Given the description of an element on the screen output the (x, y) to click on. 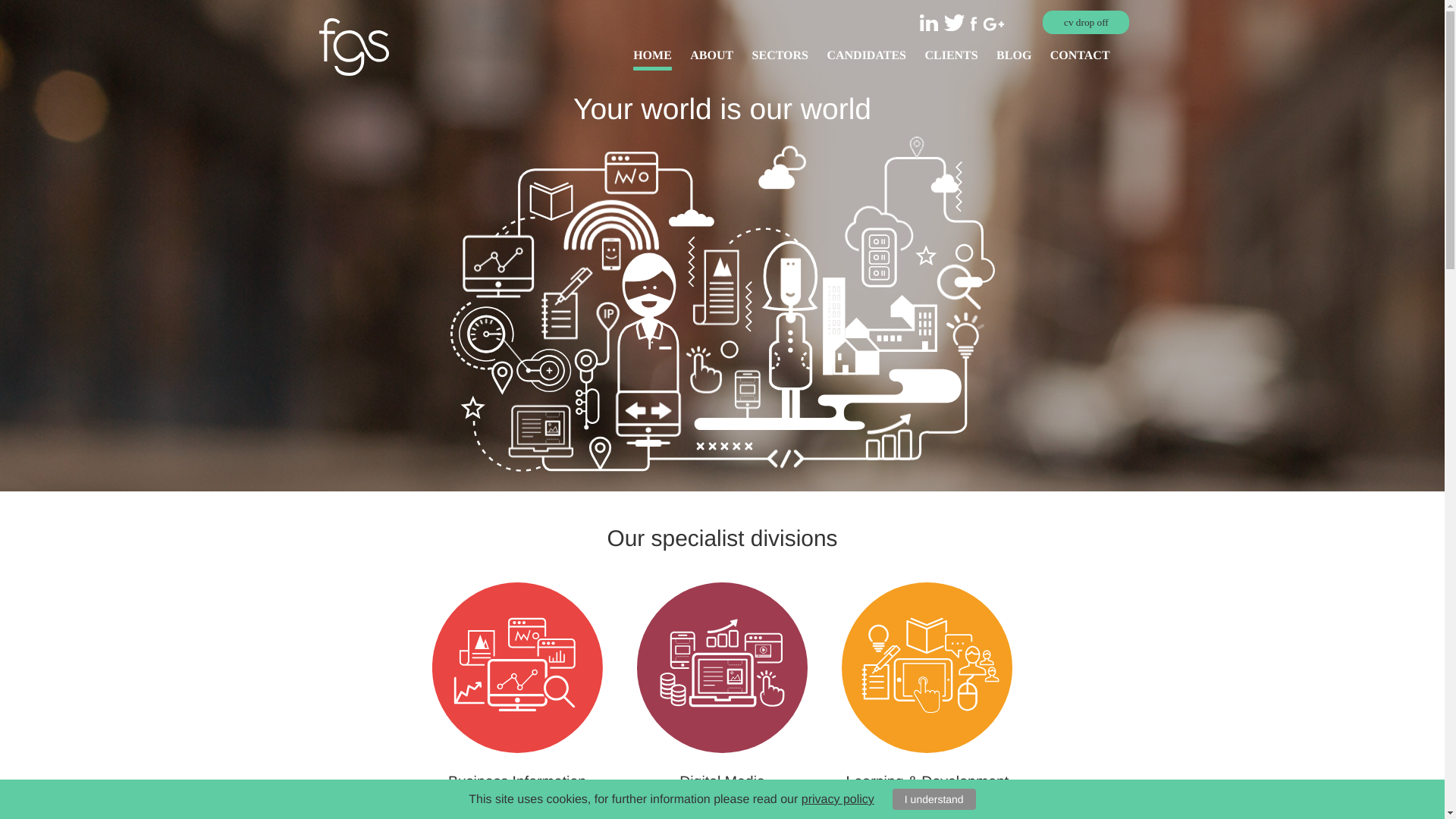
BLOG (1012, 59)
CLIENTS (950, 59)
SECTORS (780, 59)
HOME (652, 59)
cv drop off (1085, 22)
CANDIDATES (866, 59)
ABOUT (711, 59)
CONTACT (1079, 59)
